Given the description of an element on the screen output the (x, y) to click on. 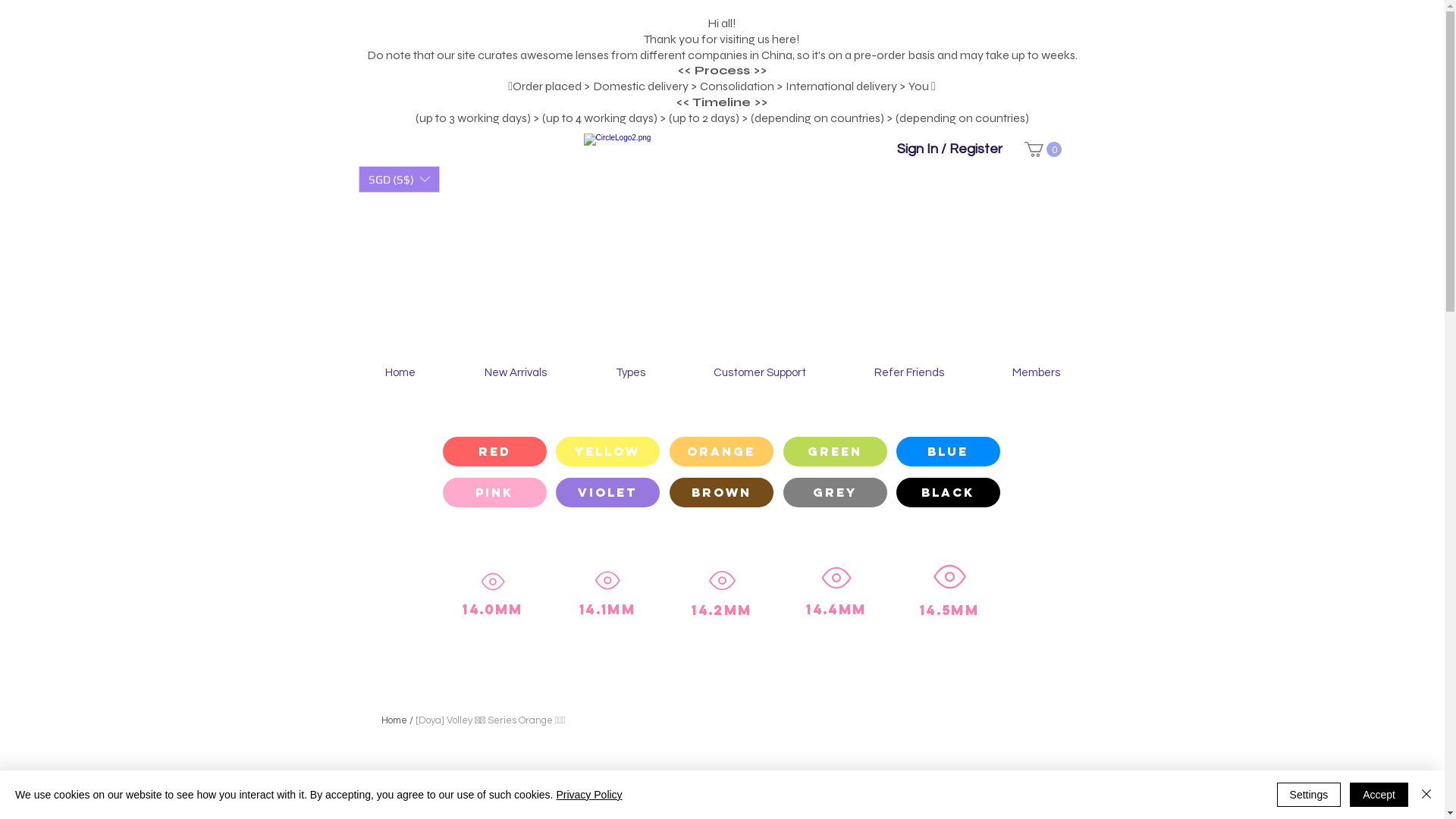
SGD (S$) Element type: text (398, 179)
14.5mm Element type: text (949, 586)
Home Element type: text (393, 720)
0 Element type: text (1041, 148)
Violet Element type: text (606, 492)
14.2mm Element type: text (721, 589)
Pink Element type: text (494, 492)
Grey Element type: text (834, 492)
Privacy Policy Element type: text (588, 794)
Black Element type: text (948, 492)
Refer Friends Element type: text (909, 372)
Members Element type: text (1036, 372)
Accept Element type: text (1378, 794)
Orange Element type: text (720, 451)
Blue Element type: text (948, 451)
RED Element type: text (494, 451)
Settings Element type: text (1309, 794)
Green Element type: text (834, 451)
Sign In / Register Element type: text (948, 148)
New Arrivals Element type: text (514, 372)
14.0mm Element type: text (492, 591)
Yellow Element type: text (606, 451)
Site Search Element type: hover (448, 152)
14.1mm Element type: text (606, 589)
14.4mm Element type: text (835, 587)
Home Element type: text (399, 372)
Brown Element type: text (720, 492)
